Given the description of an element on the screen output the (x, y) to click on. 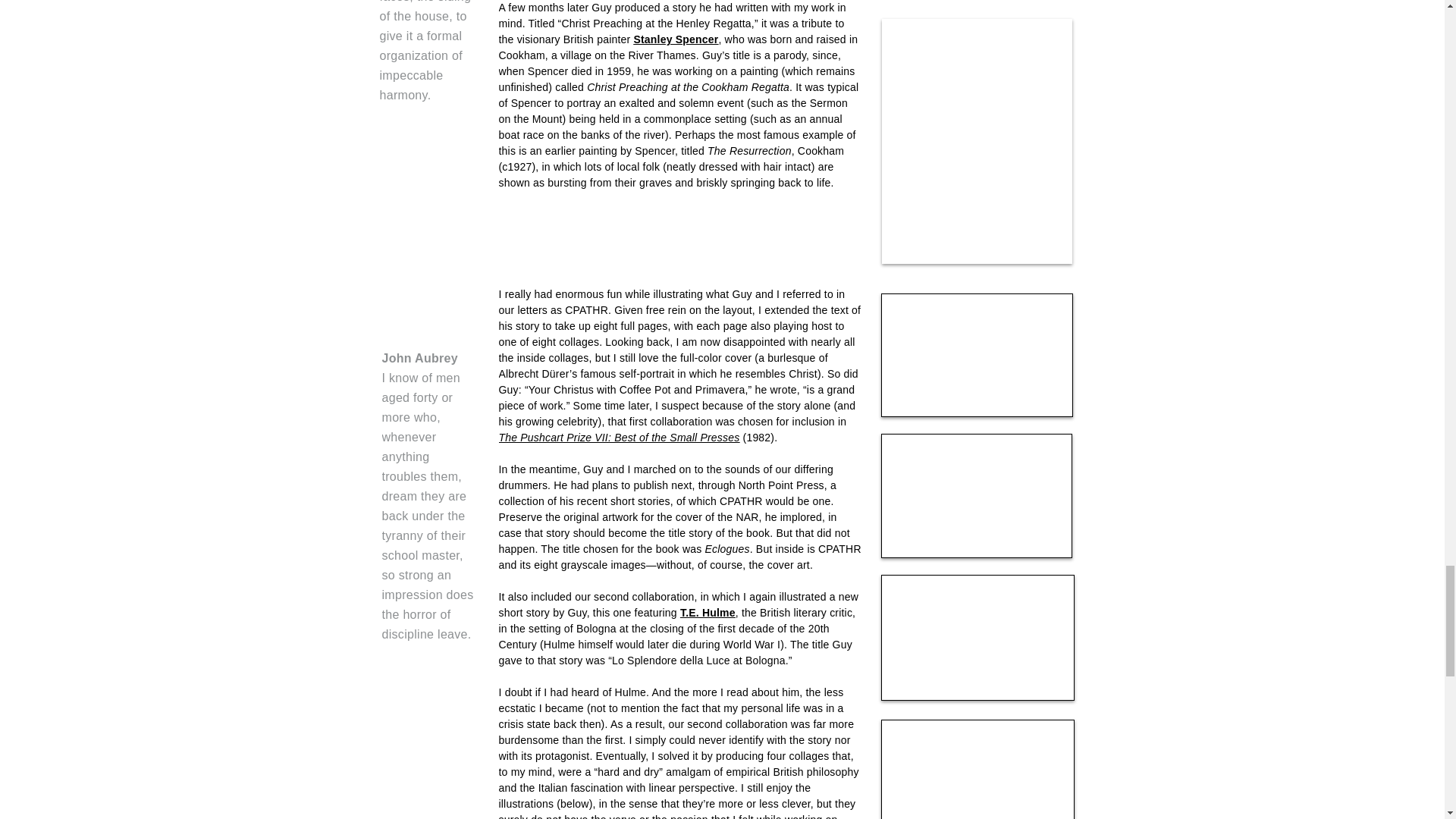
The Pushcart Prize VII: Best of the Small Presses (619, 437)
T.E. Hulme (707, 612)
Stanley Spencer (675, 39)
